Given the description of an element on the screen output the (x, y) to click on. 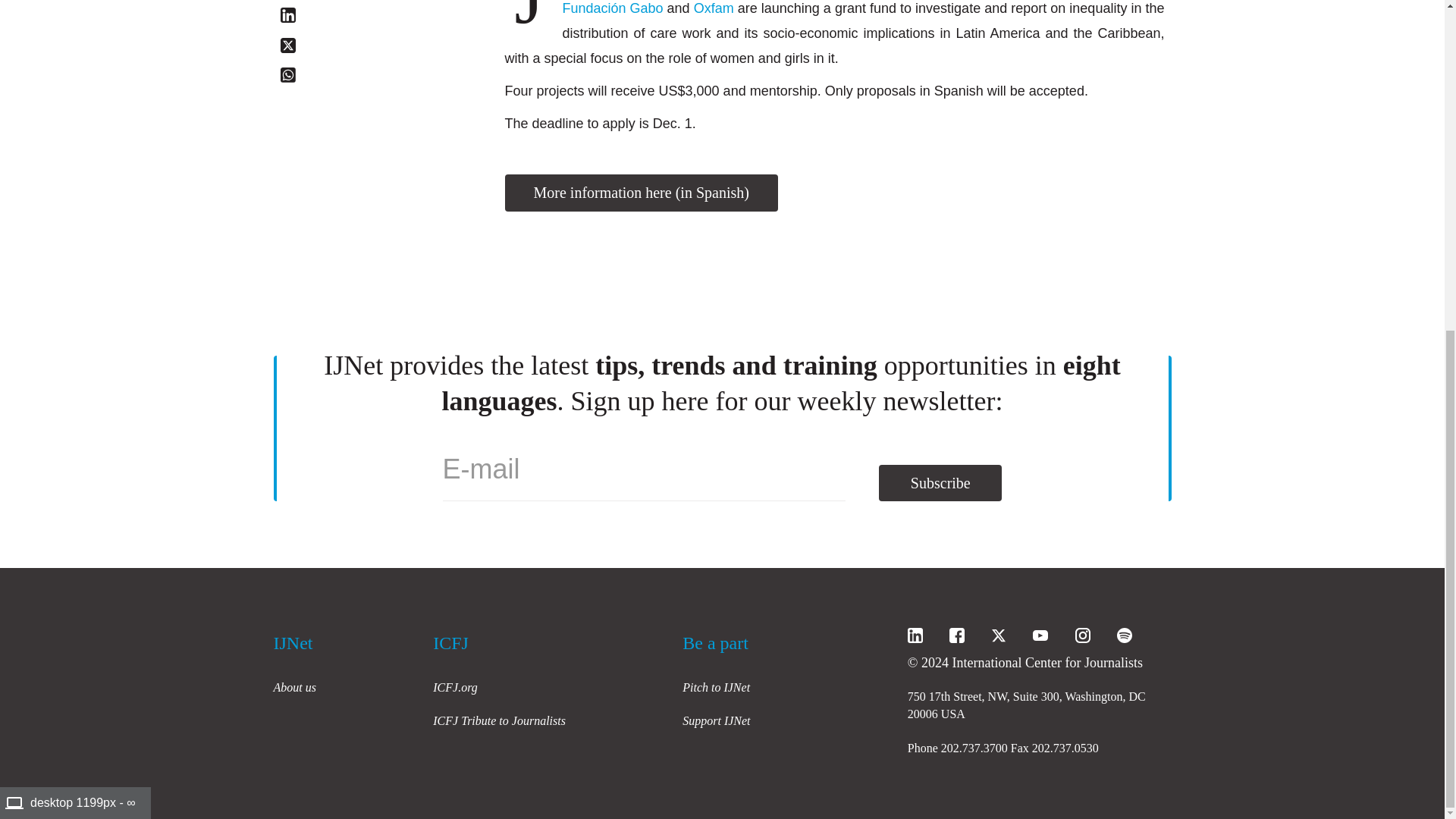
Linkedin (288, 14)
Whatsapp (288, 74)
Twitter (288, 45)
